Given the description of an element on the screen output the (x, y) to click on. 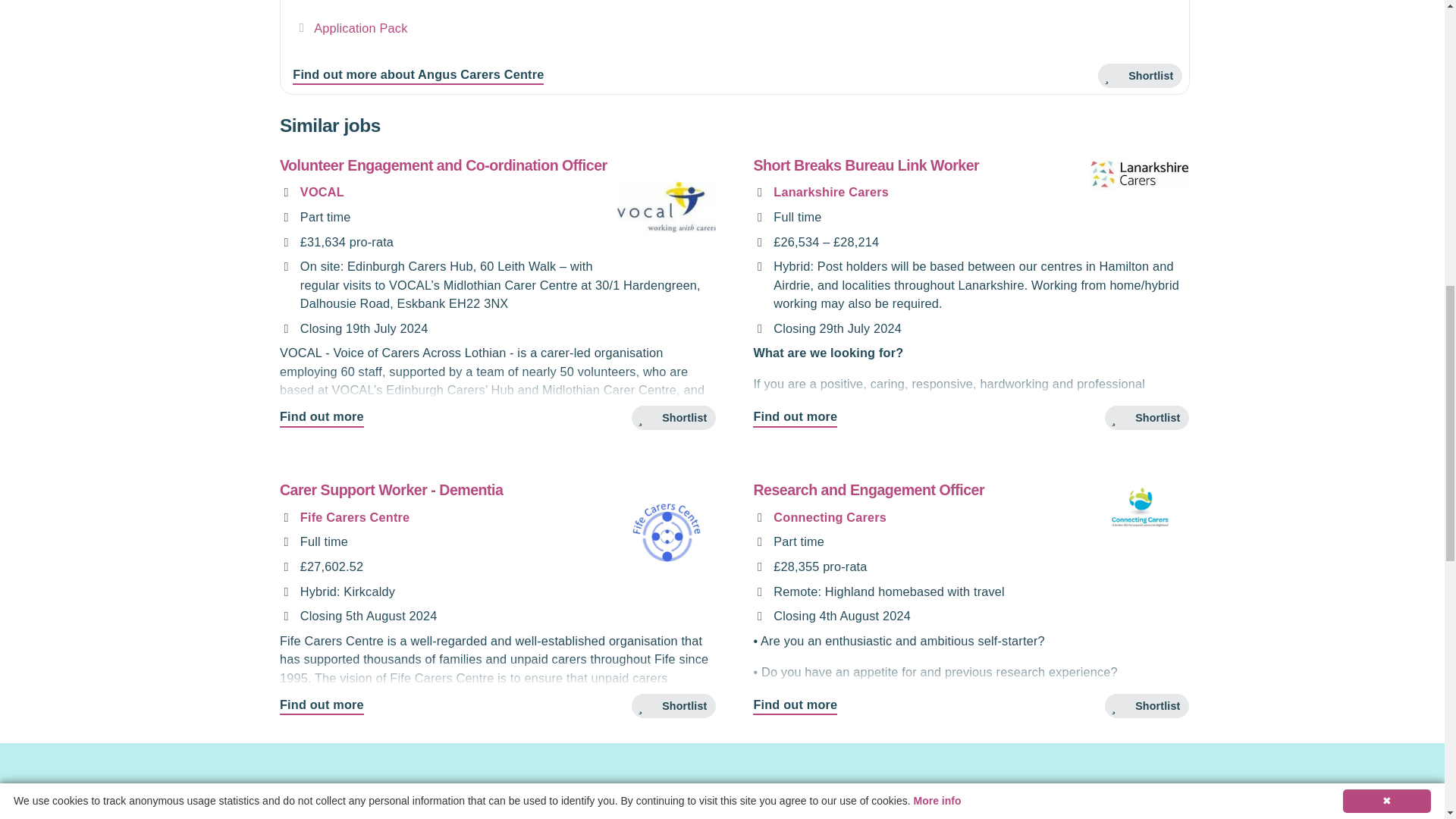
Status (286, 217)
Salary (286, 242)
Organisation (286, 192)
